Given the description of an element on the screen output the (x, y) to click on. 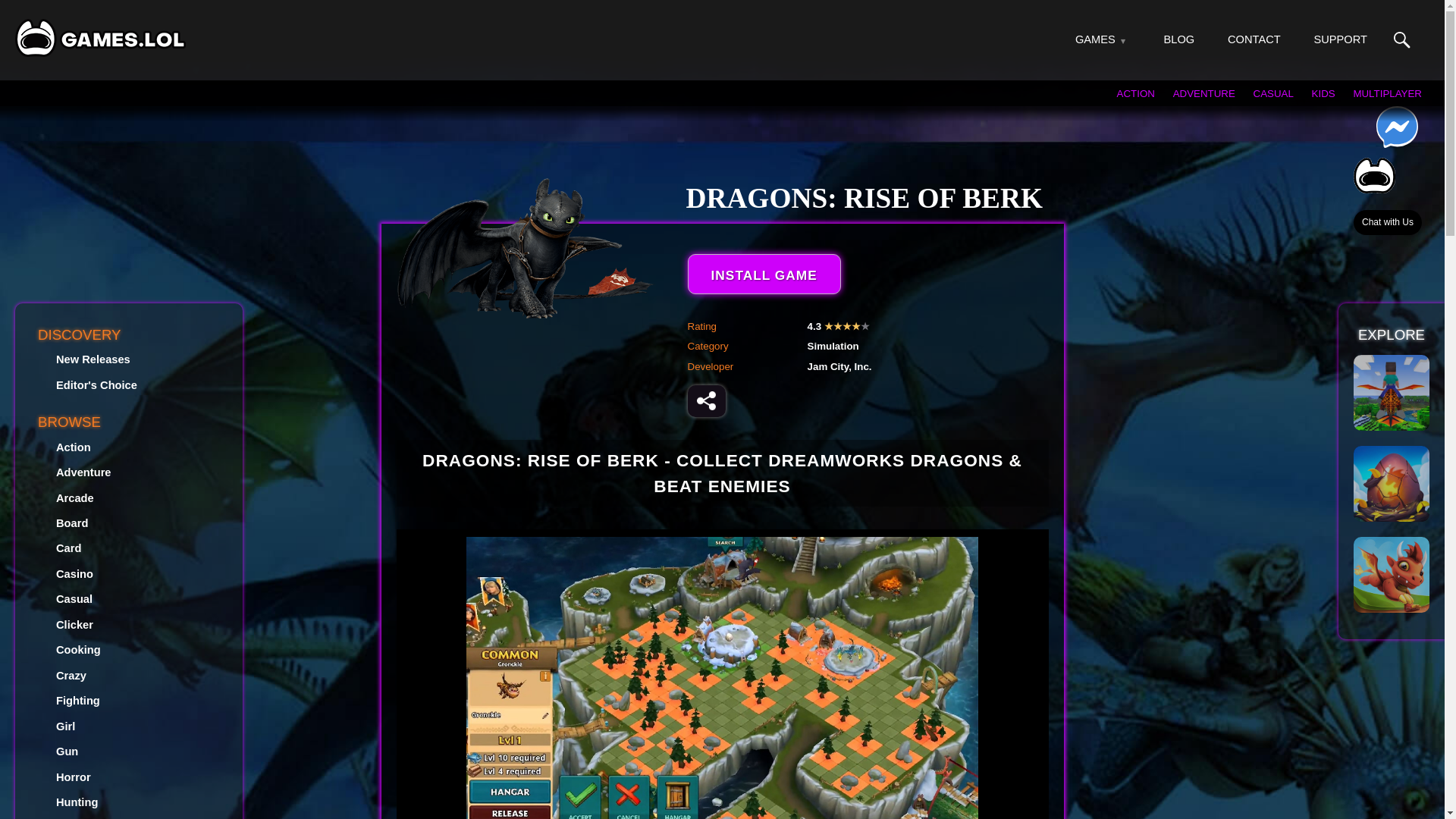
KIDS (1323, 93)
MULTIPLAYER (1387, 93)
BLOG (1179, 39)
ACTION (1135, 93)
Play Dragon Land on PC (1391, 574)
New Releases (93, 358)
Play Dragon Craft on PC (1391, 392)
SUPPORT (1340, 39)
CONTACT (1254, 39)
ADVENTURE (1203, 93)
